Given the description of an element on the screen output the (x, y) to click on. 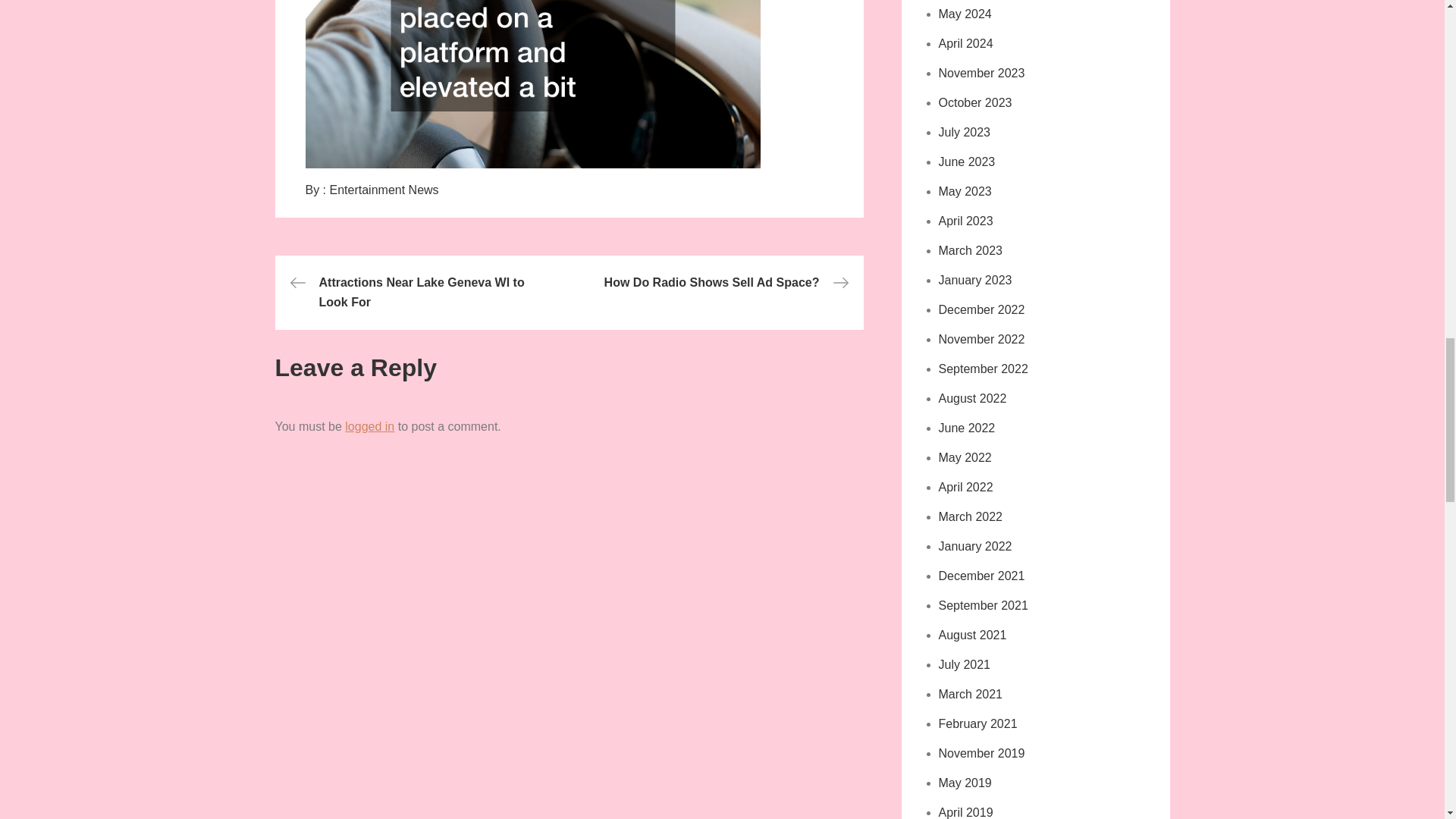
logged in (369, 426)
January 2023 (975, 279)
December 2021 (982, 575)
January 2022 (975, 545)
June 2022 (967, 427)
Entertainment News (384, 189)
September 2022 (983, 368)
August 2022 (973, 398)
December 2022 (982, 309)
March 2023 (971, 250)
July 2023 (965, 132)
October 2023 (975, 102)
June 2023 (967, 161)
September 2021 (983, 604)
May 2022 (965, 457)
